Given the description of an element on the screen output the (x, y) to click on. 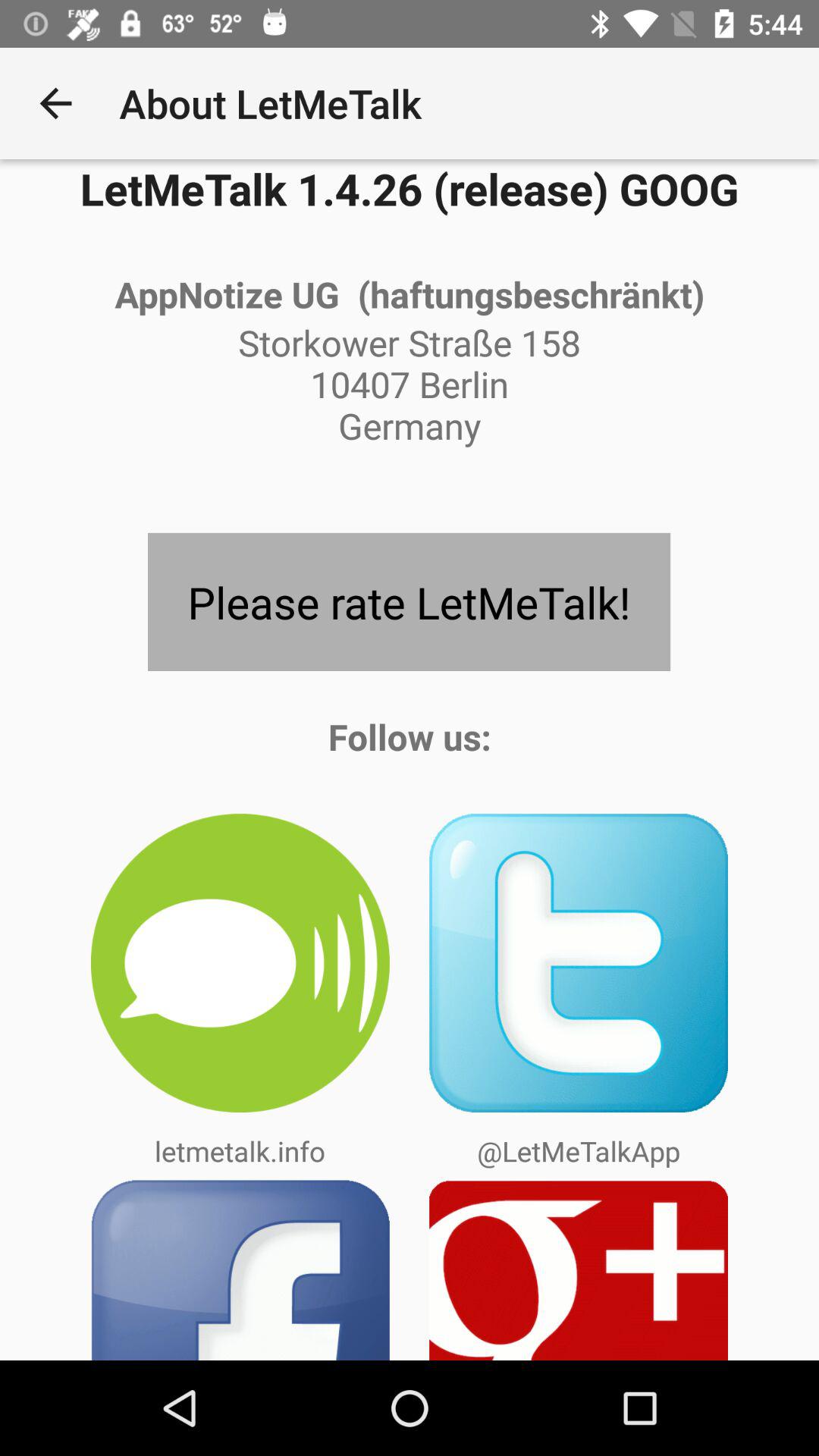
open the icon above the 
follow us: (408, 601)
